Given the description of an element on the screen output the (x, y) to click on. 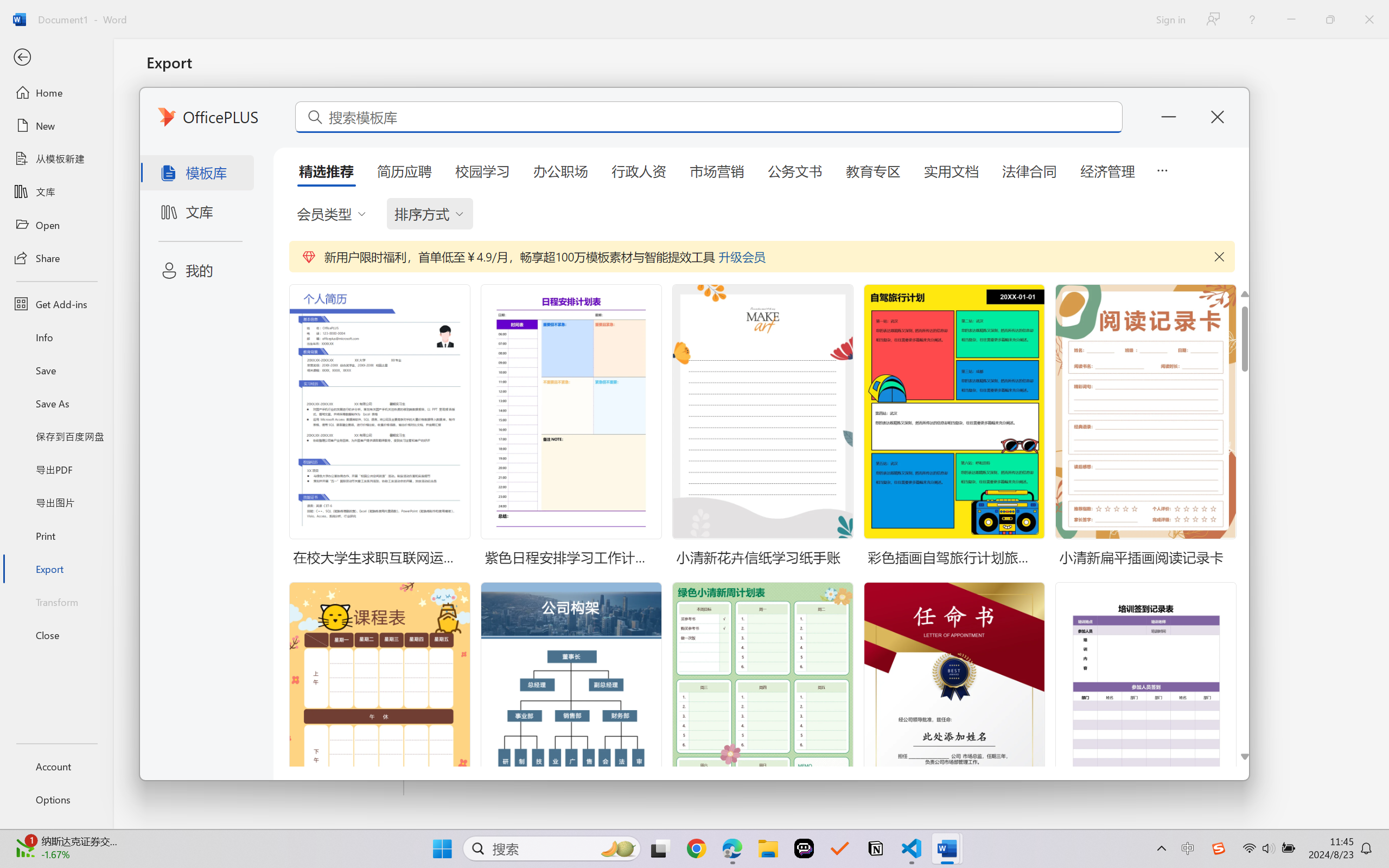
Get Add-ins (56, 303)
